Given the description of an element on the screen output the (x, y) to click on. 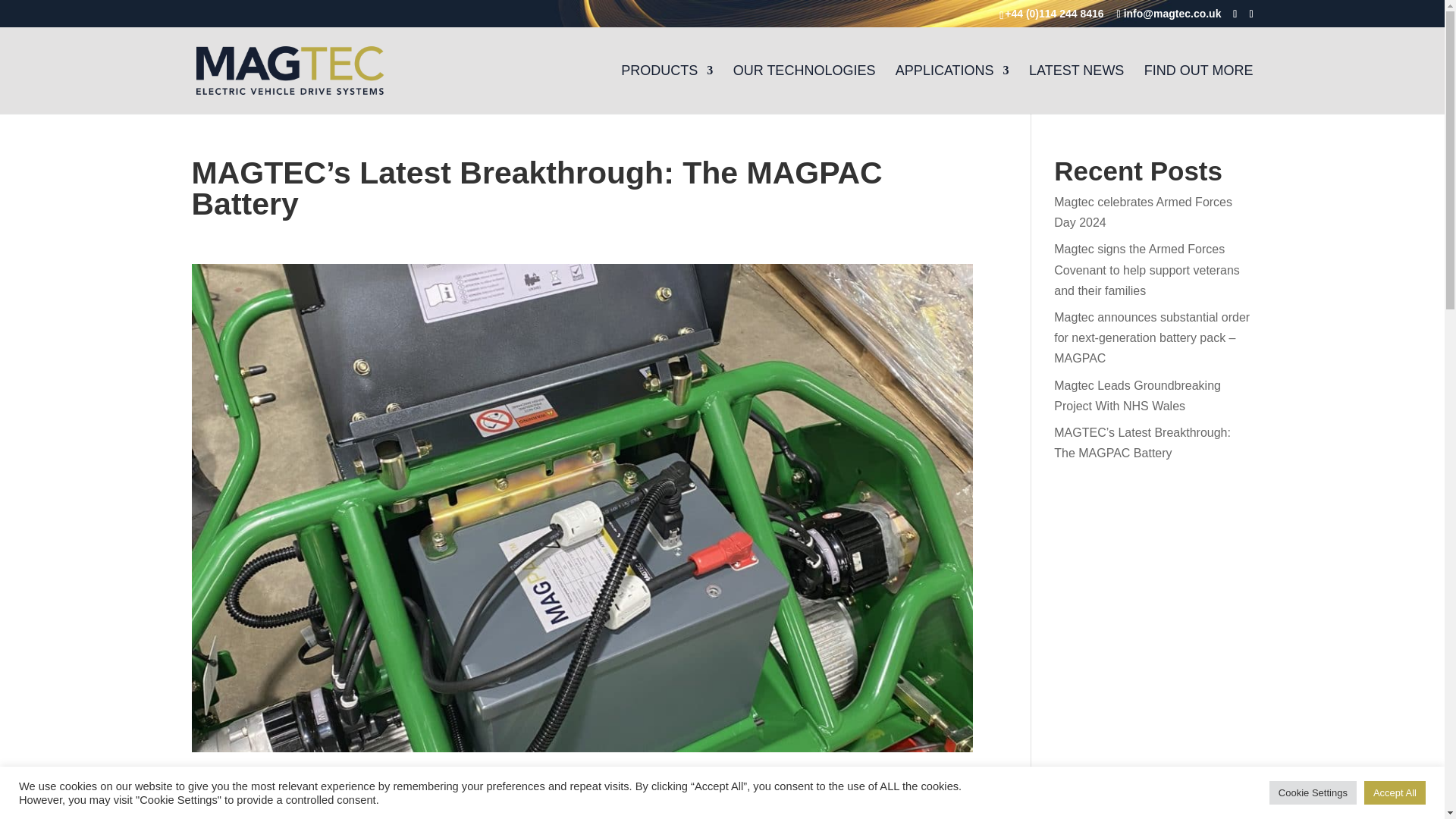
LATEST NEWS (1076, 89)
FIND OUT MORE (1198, 89)
Magtec celebrates Armed Forces Day 2024 (1142, 212)
APPLICATIONS (952, 89)
OUR TECHNOLOGIES (804, 89)
PRODUCTS (667, 89)
